Given the description of an element on the screen output the (x, y) to click on. 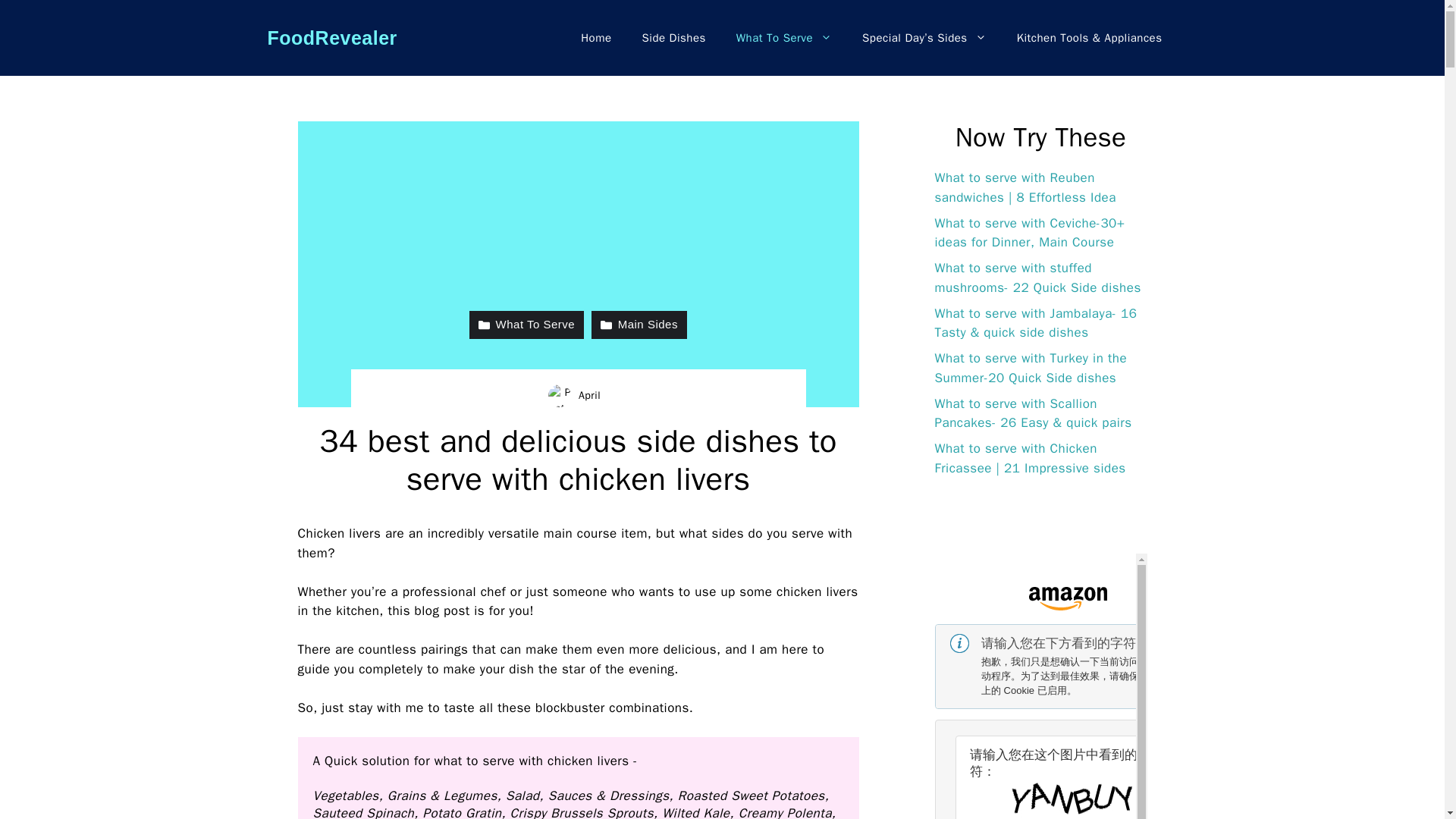
Home (596, 37)
April (588, 395)
Main Sides (639, 325)
Side Dishes (673, 37)
FoodRevealer (331, 37)
What To Serve (783, 37)
What To Serve (525, 325)
